Given the description of an element on the screen output the (x, y) to click on. 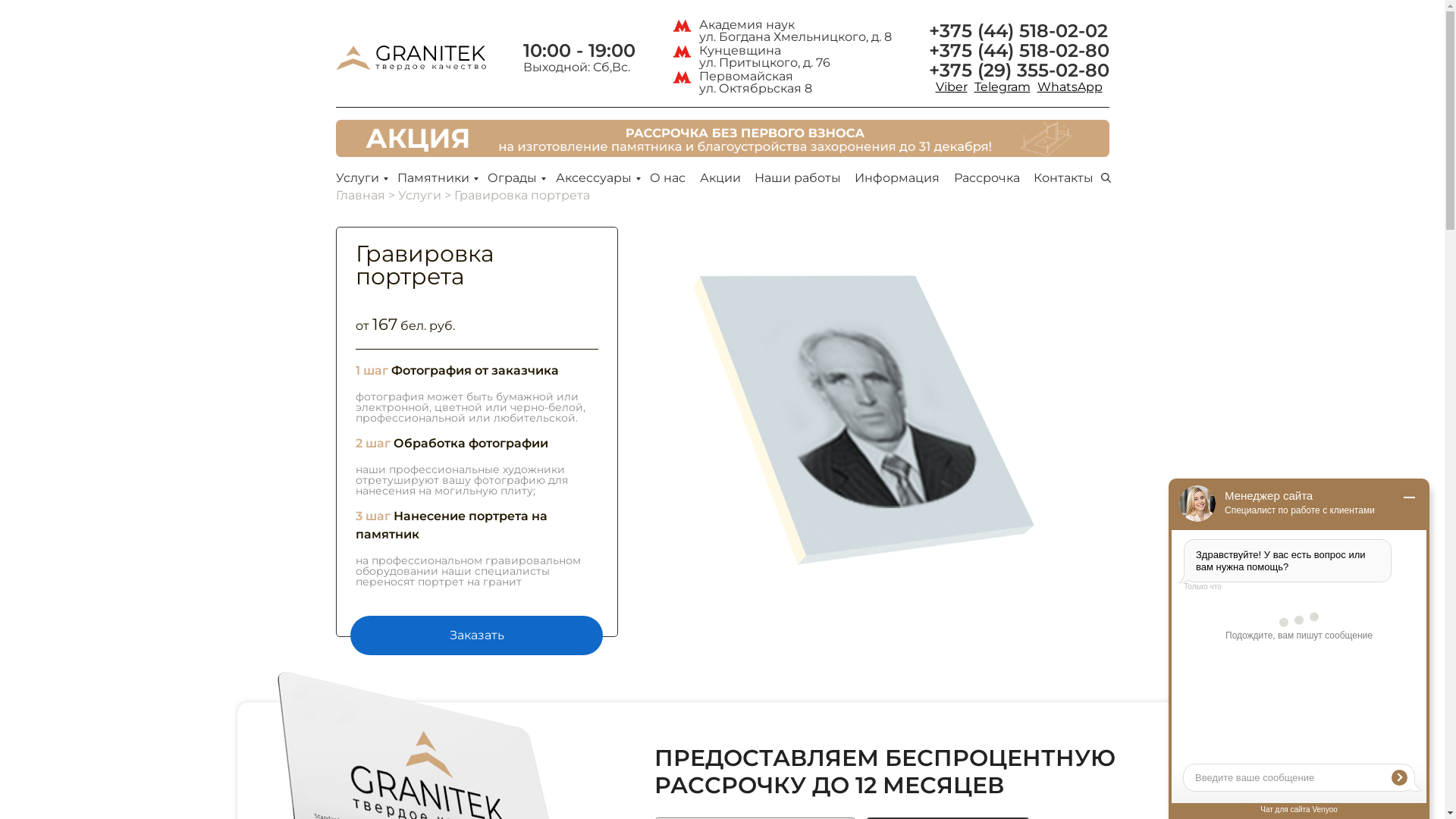
+375 (44) 518-02-80 Element type: text (1018, 50)
+375 (44) 518-02-02 Element type: text (1018, 30)
Telegram Element type: text (1001, 87)
Viber Element type: text (951, 87)
+375 (29) 355-02-80 Element type: text (1018, 70)
WhatsApp Element type: text (1069, 87)
